Given the description of an element on the screen output the (x, y) to click on. 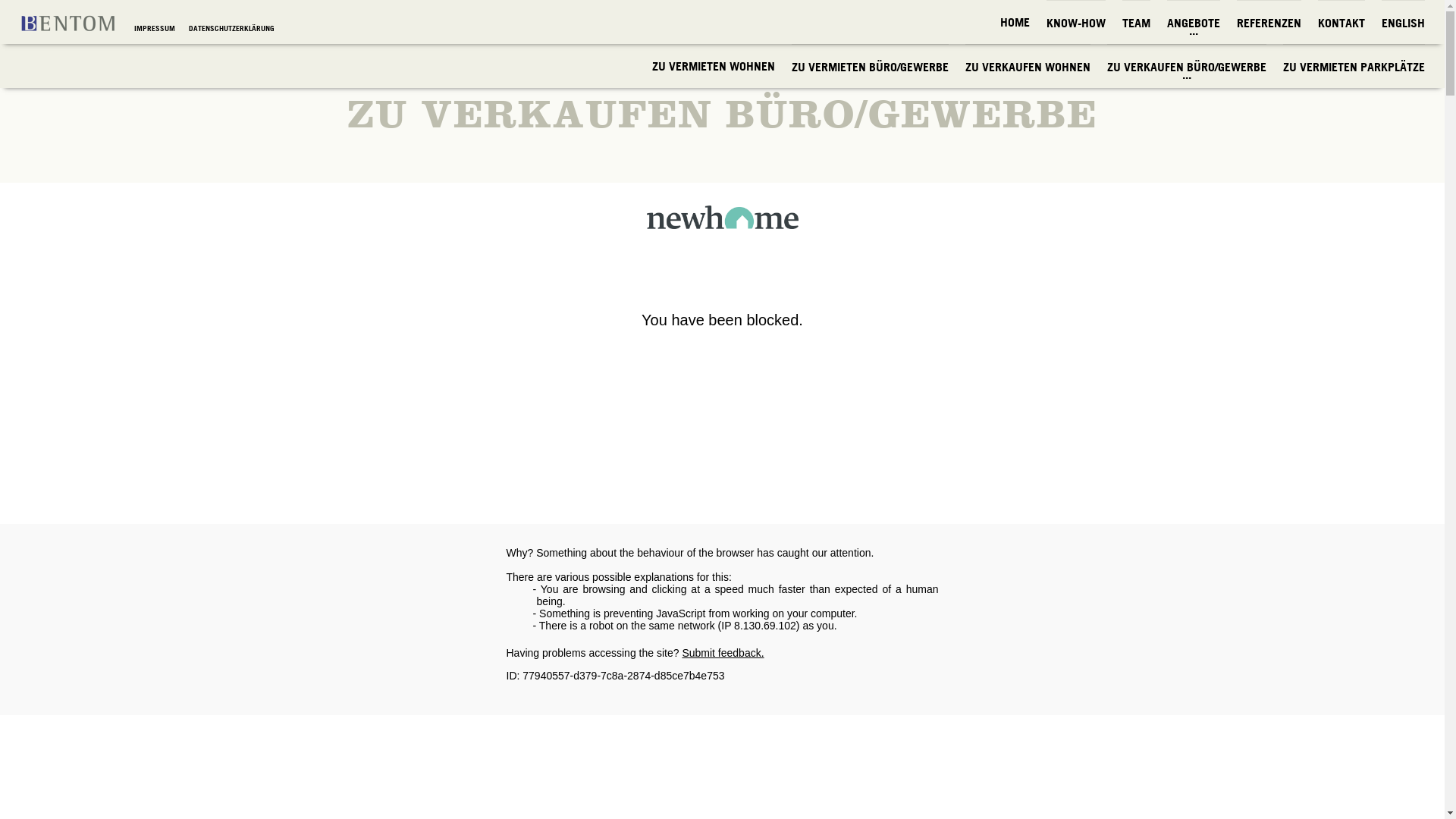
ENGLISH Element type: text (1402, 22)
KONTAKT Element type: text (1341, 22)
ZU VERKAUFEN WOHNEN Element type: text (1027, 66)
KNOW-HOW Element type: text (1075, 22)
REFERENZEN Element type: text (1268, 22)
HOME Element type: text (1014, 21)
ANGEBOTE Element type: text (1193, 22)
TEAM Element type: text (1136, 22)
IMPRESSUM Element type: text (155, 28)
ZU VERMIETEN WOHNEN Element type: text (713, 65)
